Given the description of an element on the screen output the (x, y) to click on. 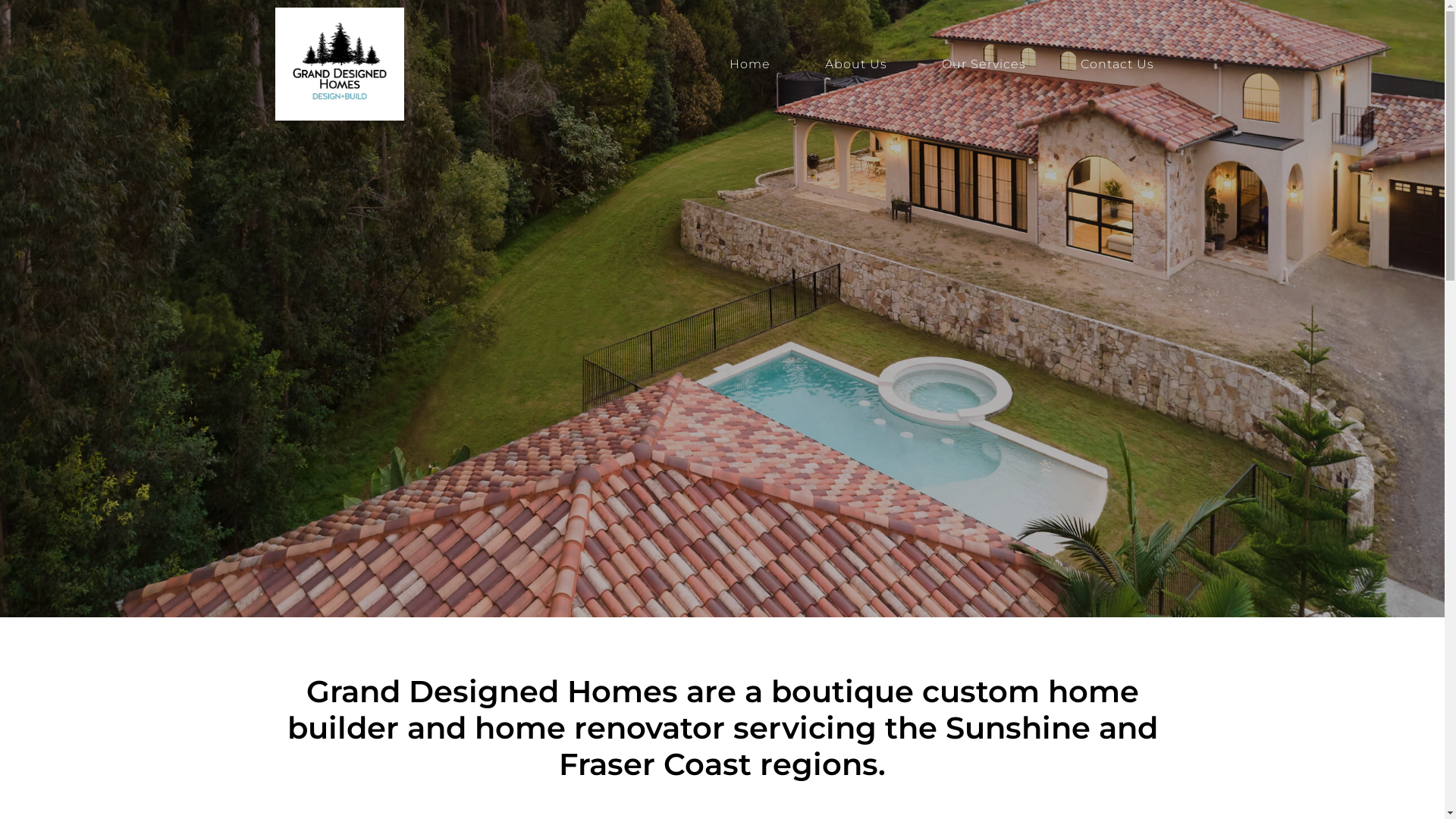
Our Services Element type: text (983, 63)
Contact Us Element type: text (1117, 63)
Home Element type: text (748, 63)
About Us Element type: text (855, 63)
